Given the description of an element on the screen output the (x, y) to click on. 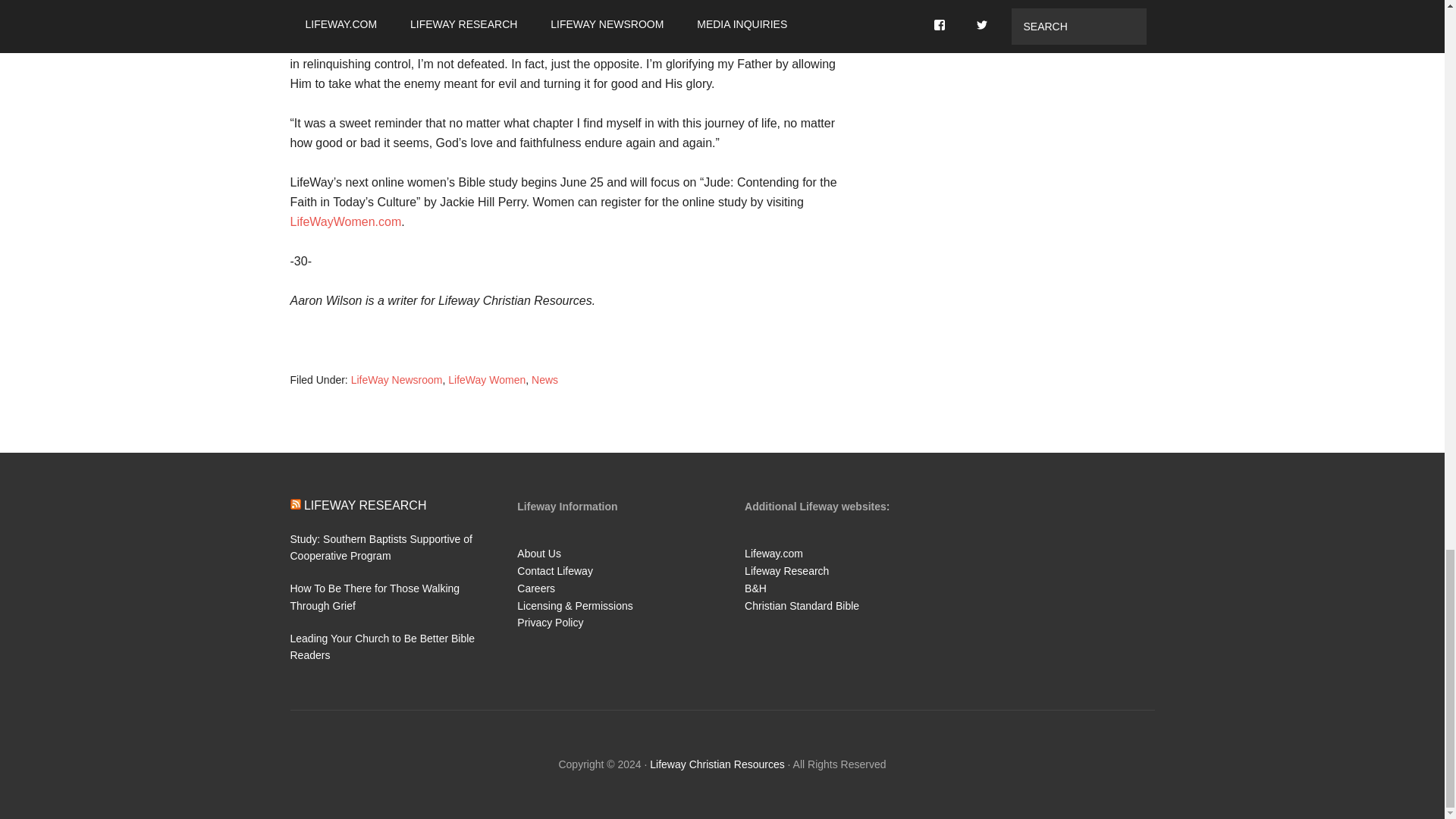
Leading Your Church to Be Better Bible Readers (381, 646)
Contact Lifeway (554, 571)
Privacy Policy (549, 622)
Christian Standard Bible (801, 605)
LifeWay Newsroom (396, 379)
LIFEWAY RESEARCH (365, 504)
Lifeway Christian Resources (716, 764)
Study: Southern Baptists Supportive of Cooperative Program (380, 547)
Lifeway.com (773, 553)
LifeWay Women (486, 379)
News (544, 379)
LifeWayWomen.com (345, 221)
How To Be There for Those Walking Through Grief (374, 596)
About Us (538, 553)
Careers (535, 588)
